Given the description of an element on the screen output the (x, y) to click on. 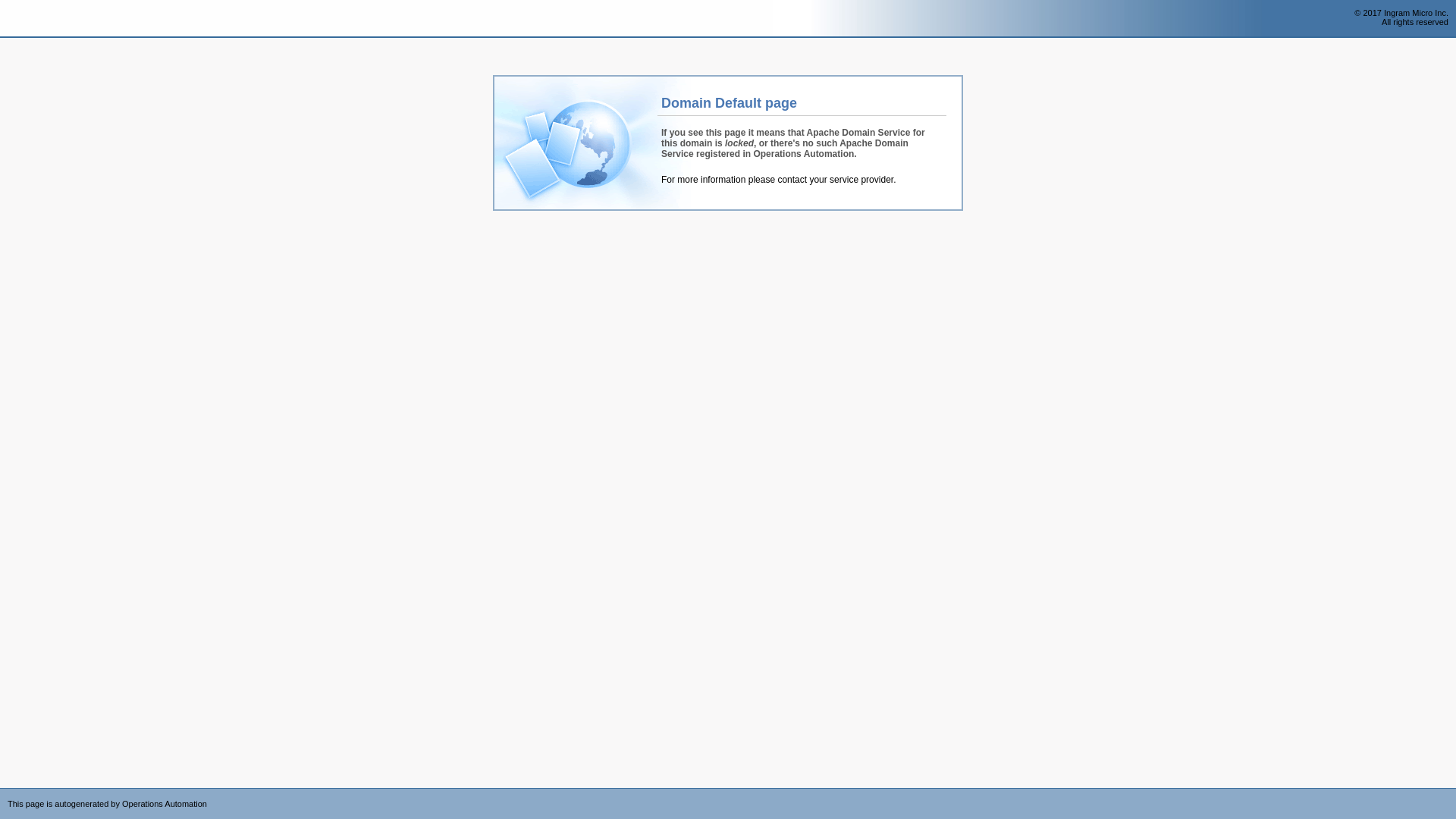
Operations Automation Element type: text (39, 18)
Powered by CloudBlue Commerce Element type: hover (1447, 792)
